Given the description of an element on the screen output the (x, y) to click on. 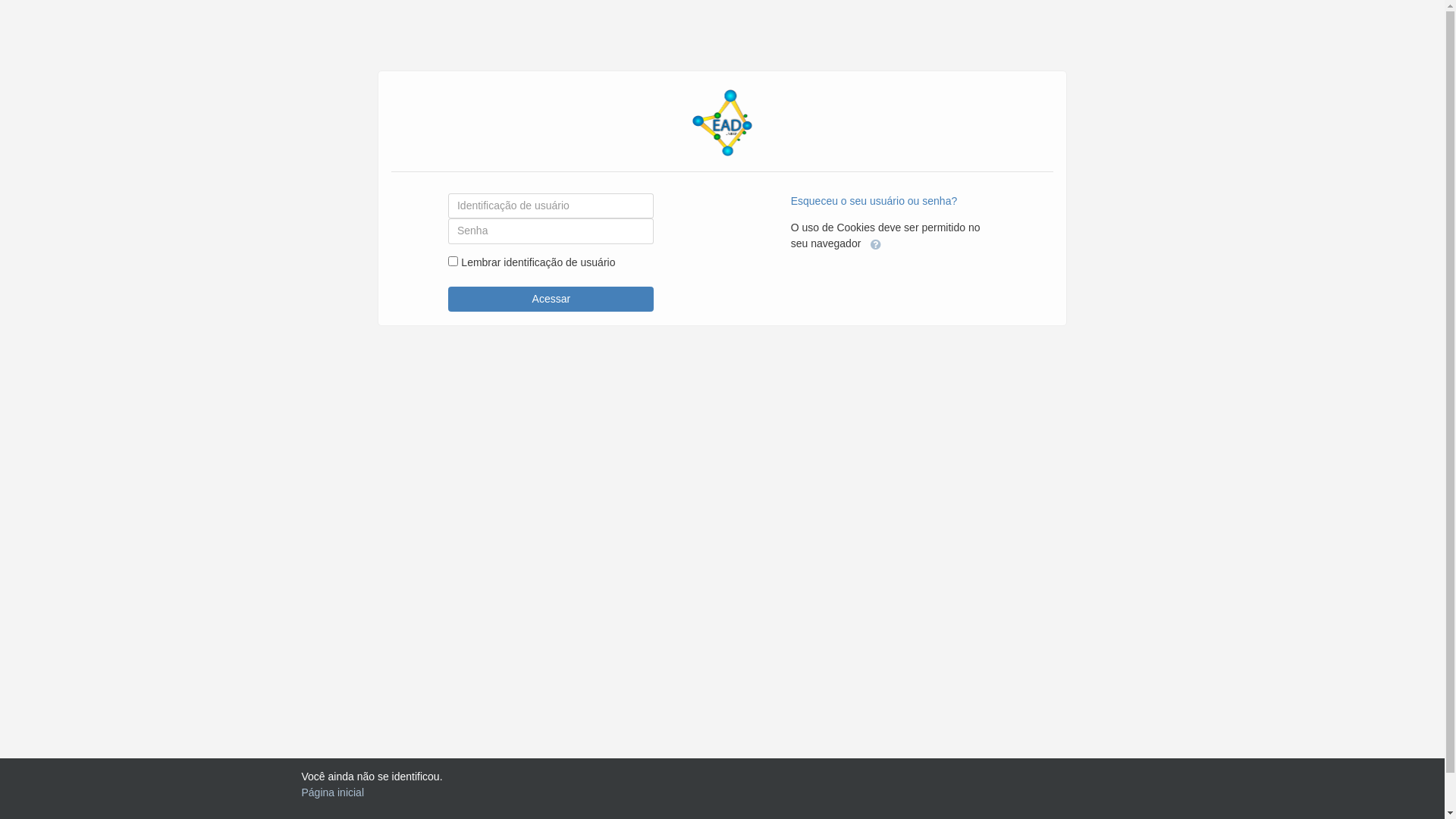
Acessar Element type: text (550, 299)
